Given the description of an element on the screen output the (x, y) to click on. 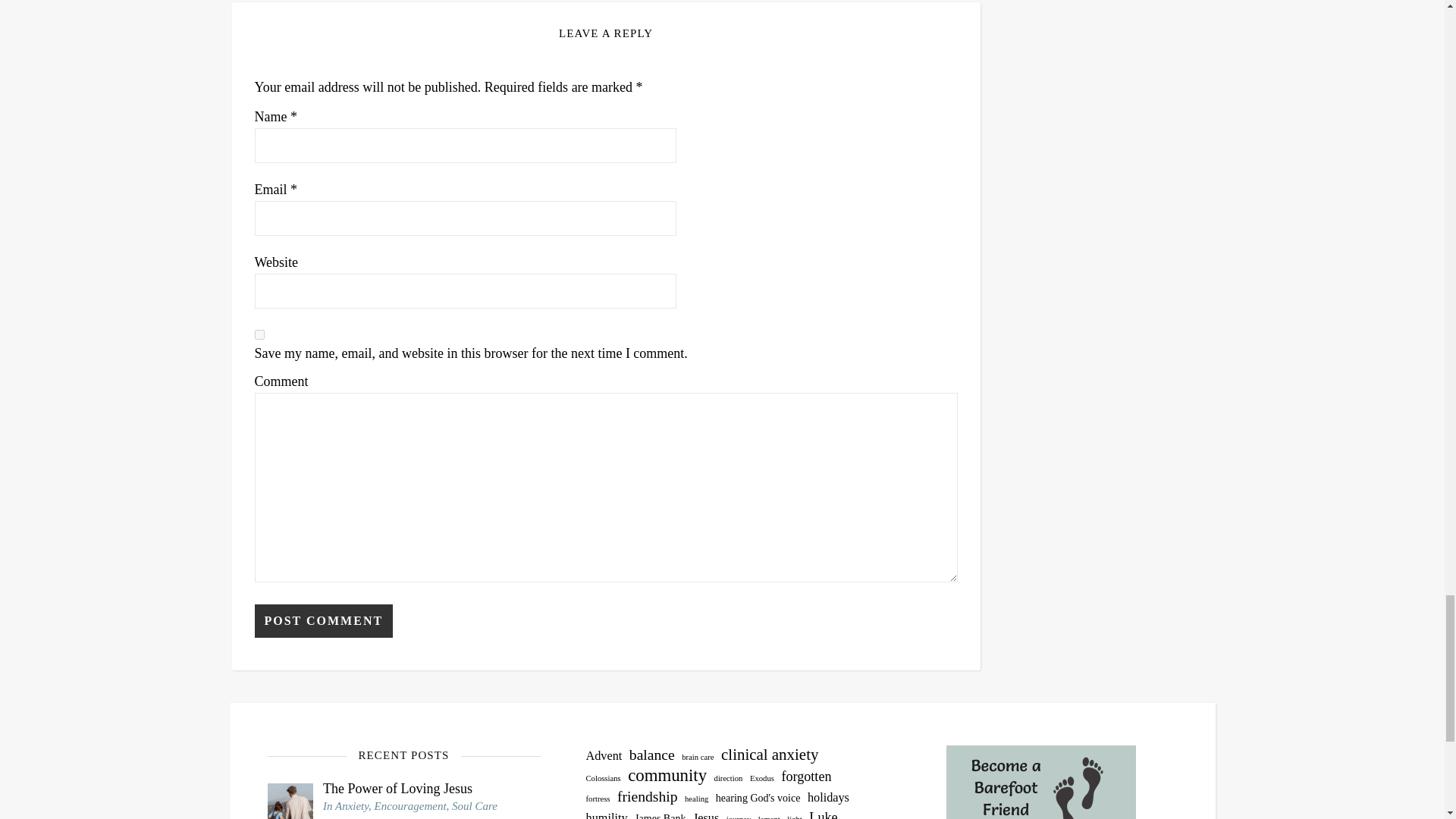
yes (259, 334)
Post Comment (323, 621)
